Given the description of an element on the screen output the (x, y) to click on. 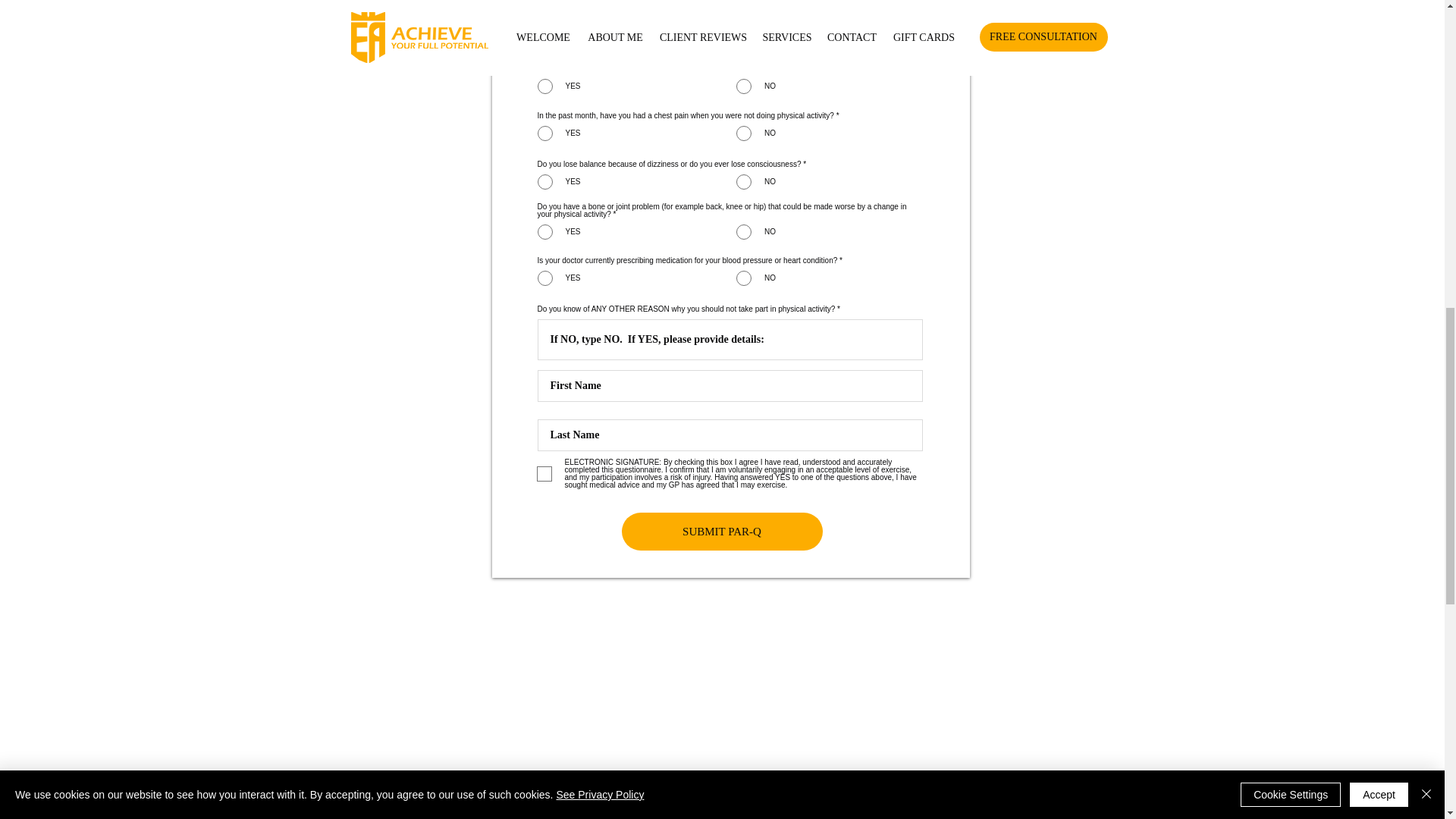
SUBMIT PAR-Q (721, 531)
